Given the description of an element on the screen output the (x, y) to click on. 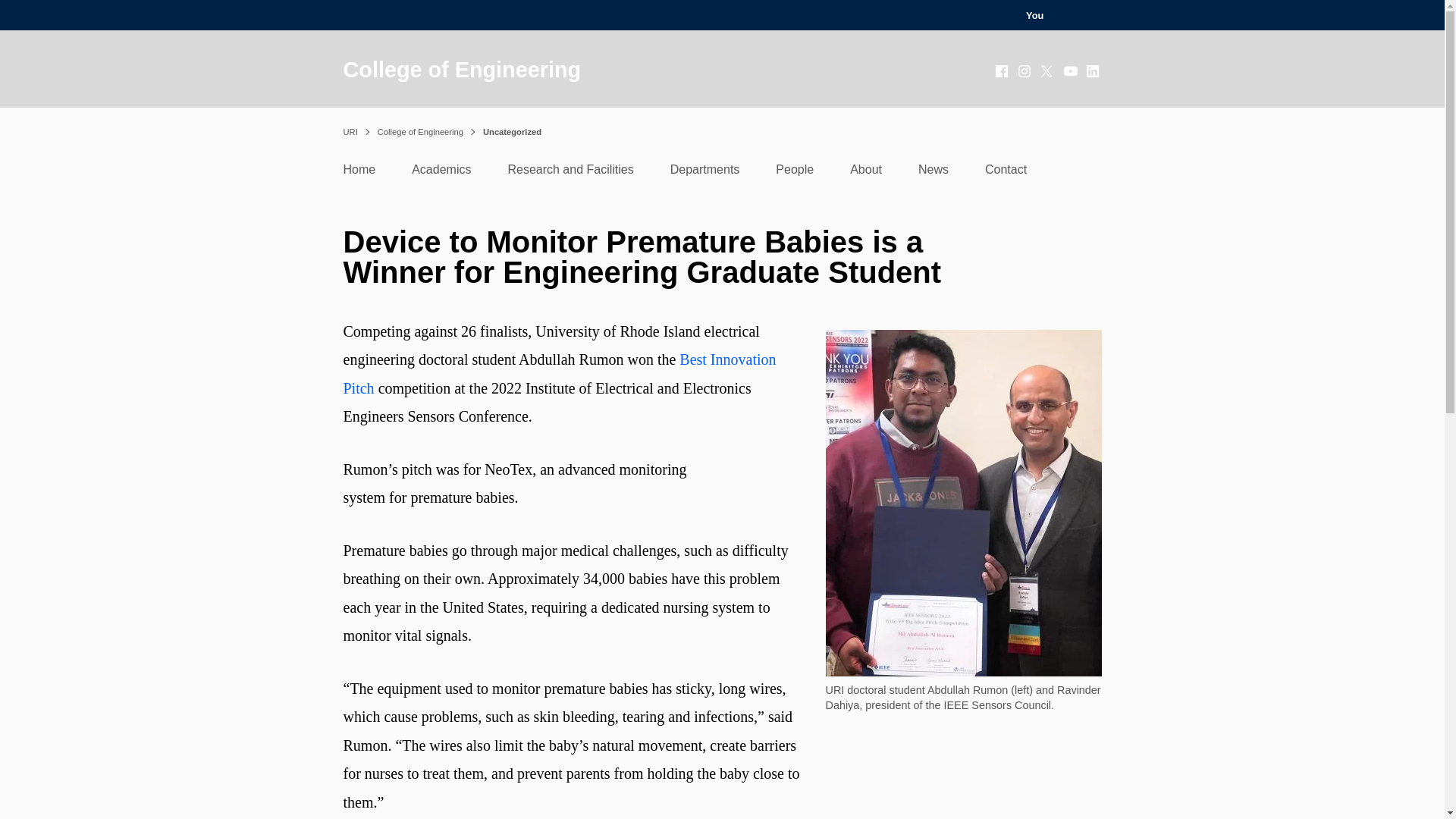
X (1048, 70)
Instagram (1024, 70)
X (1048, 70)
Home (358, 173)
Facebook (1002, 70)
College of Engineering (461, 69)
Academics (441, 173)
YouTube (1070, 70)
People (794, 173)
URI (349, 131)
